Given the description of an element on the screen output the (x, y) to click on. 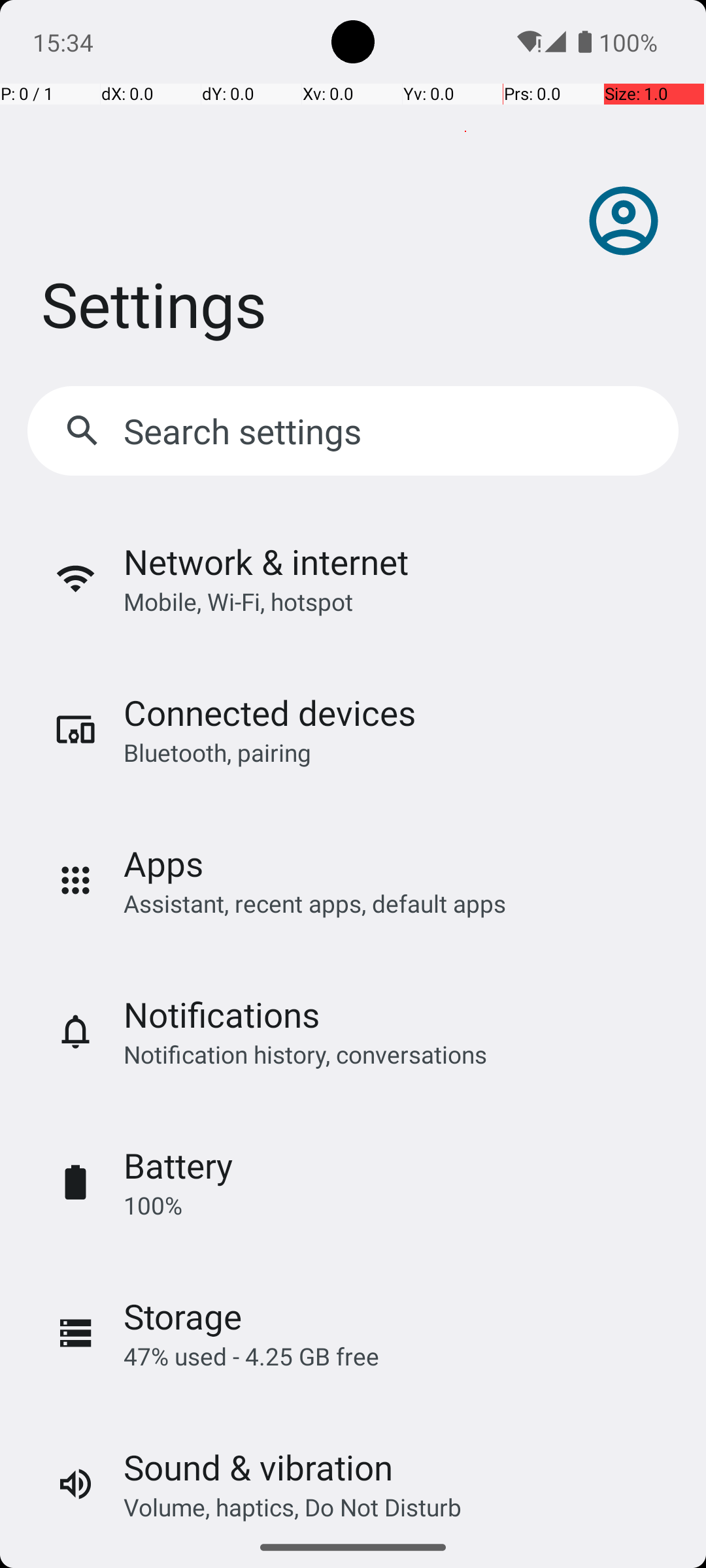
47% used - 4.25 GB free Element type: android.widget.TextView (251, 1355)
